Given the description of an element on the screen output the (x, y) to click on. 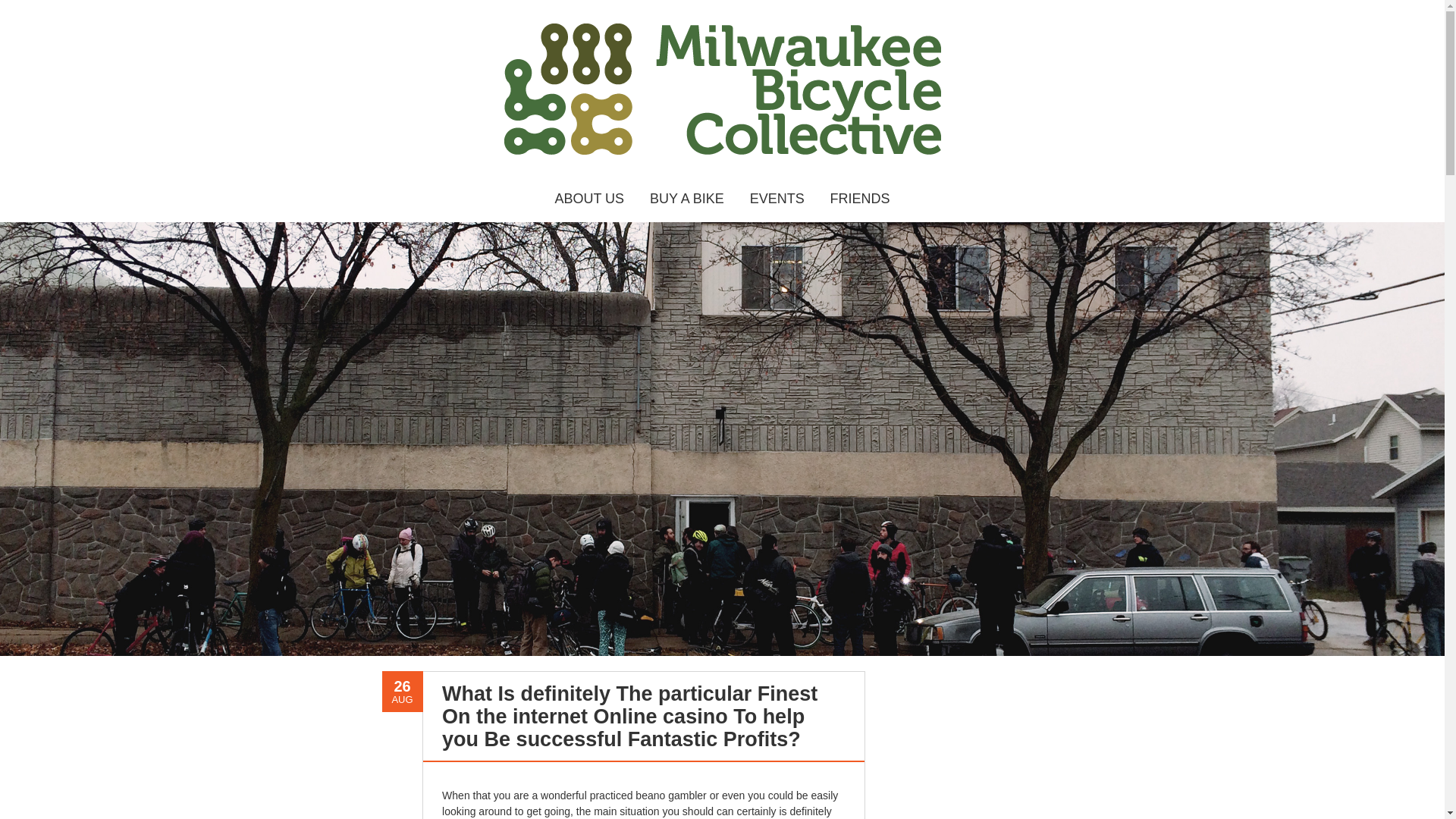
ABOUT US (589, 198)
FRIENDS (860, 198)
About Us (589, 198)
Friends of the Milwaukee Bicycle Collective (860, 198)
BUY A BIKE (687, 198)
EVENTS (777, 198)
Events with the Milwaukee Bicycle Collective (777, 198)
